Given the description of an element on the screen output the (x, y) to click on. 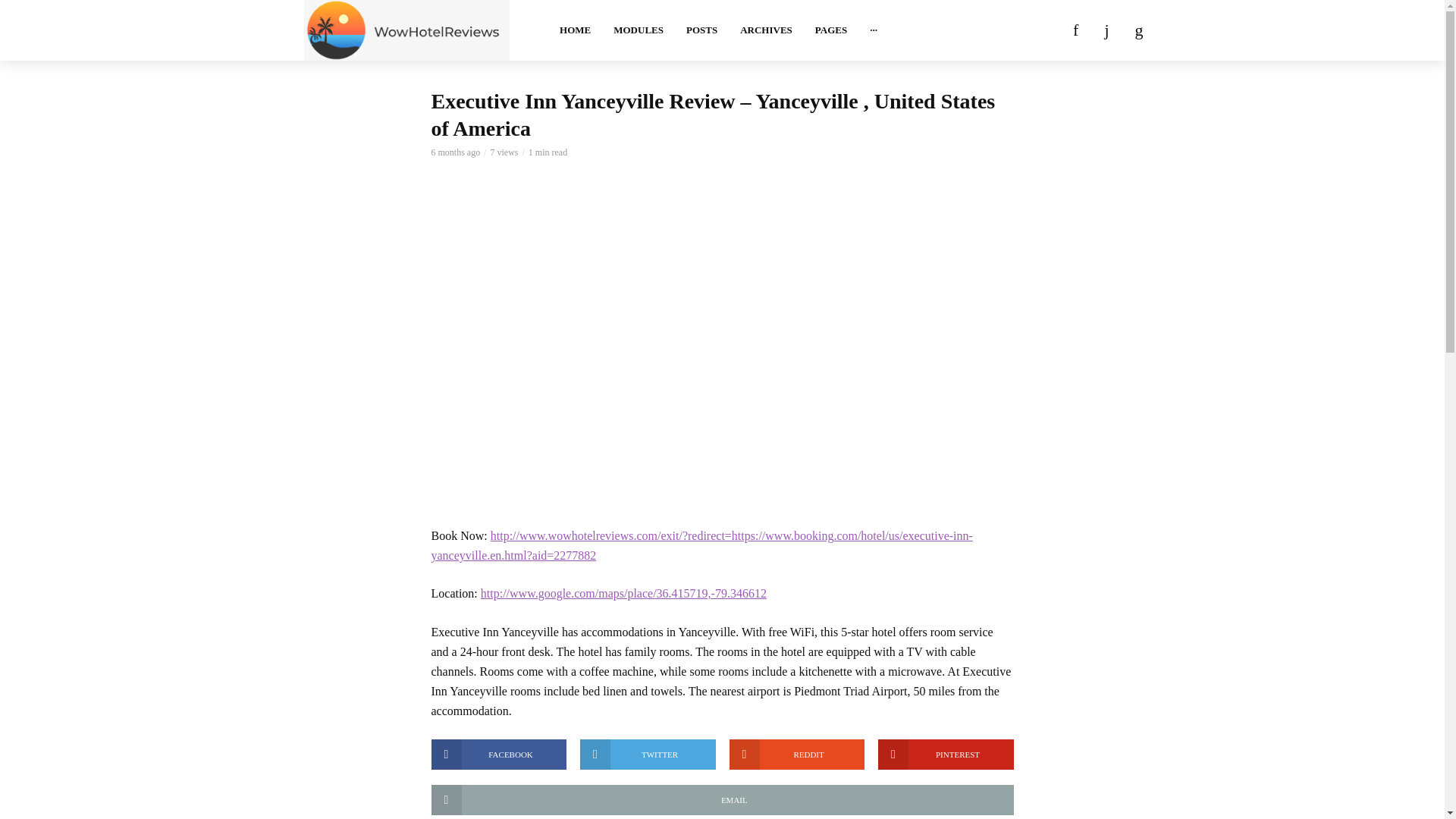
POSTS (702, 30)
HOME (575, 30)
PAGES (831, 30)
MODULES (638, 30)
ARCHIVES (766, 30)
